Given the description of an element on the screen output the (x, y) to click on. 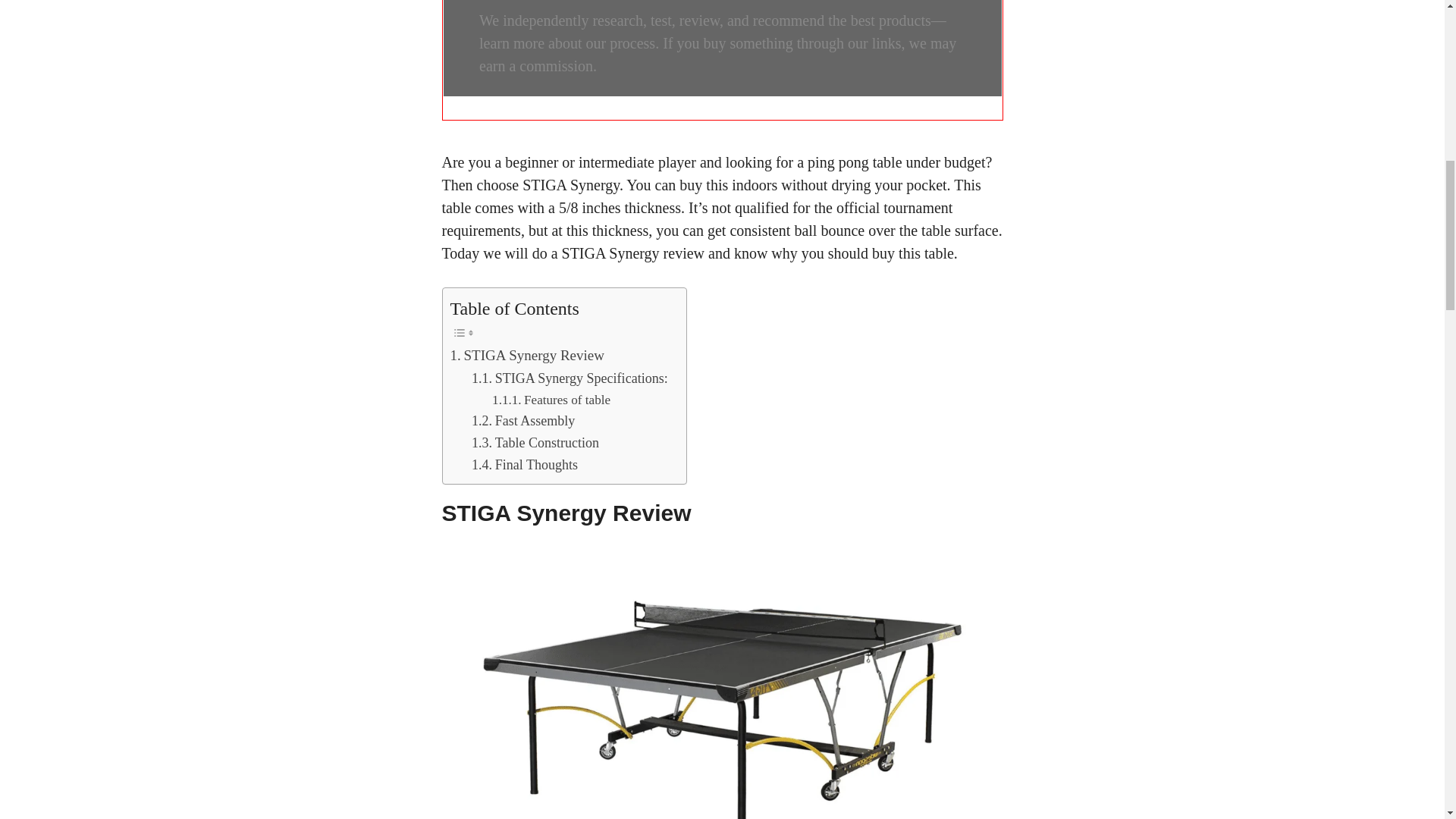
Features of table (551, 399)
Final Thoughts (524, 464)
Final Thoughts (524, 464)
STIGA Synergy Review (526, 354)
Features of table (551, 399)
STIGA Synergy Specifications:  (571, 378)
Table Construction (534, 443)
STIGA Synergy Review (526, 354)
Fast Assembly (523, 421)
